Given the description of an element on the screen output the (x, y) to click on. 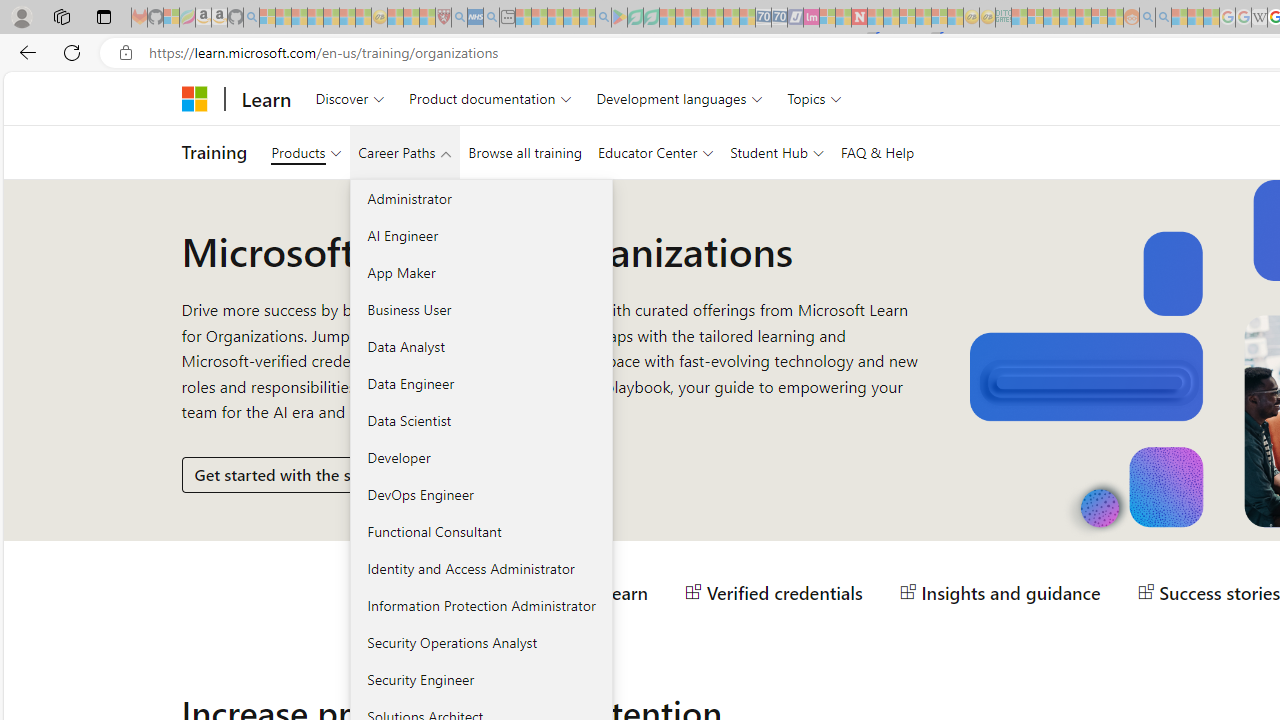
Insights and guidance (1000, 592)
Educator Center (655, 152)
Training (214, 152)
google - Search - Sleeping (603, 17)
Target page - Wikipedia - Sleeping (1259, 17)
Product documentation (490, 98)
Learn (265, 98)
Career Paths (404, 152)
Administrator (480, 198)
Data Analyst (480, 346)
Developer (480, 457)
